Given the description of an element on the screen output the (x, y) to click on. 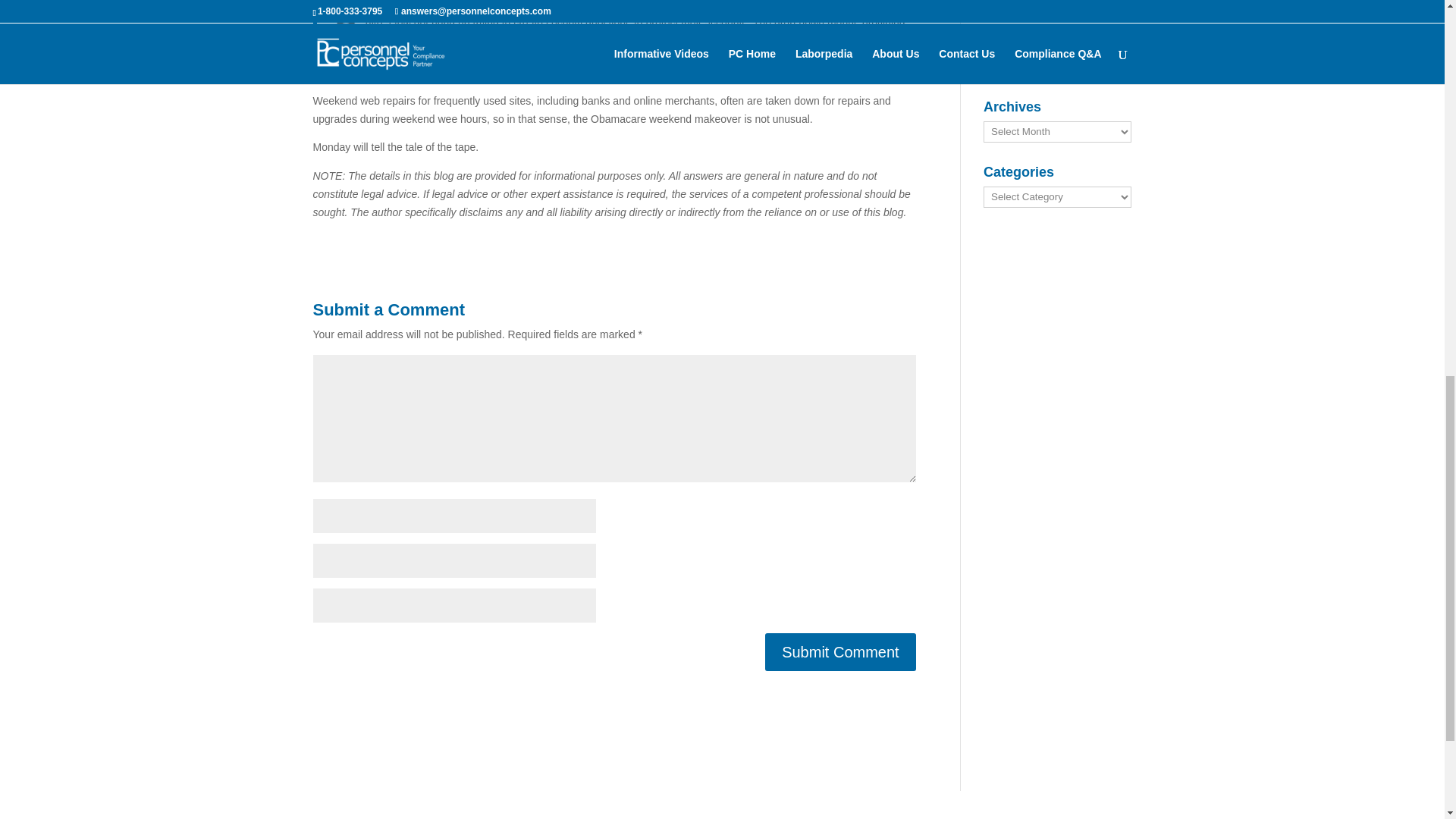
Submit Comment (840, 651)
Submit Comment (840, 651)
